Given the description of an element on the screen output the (x, y) to click on. 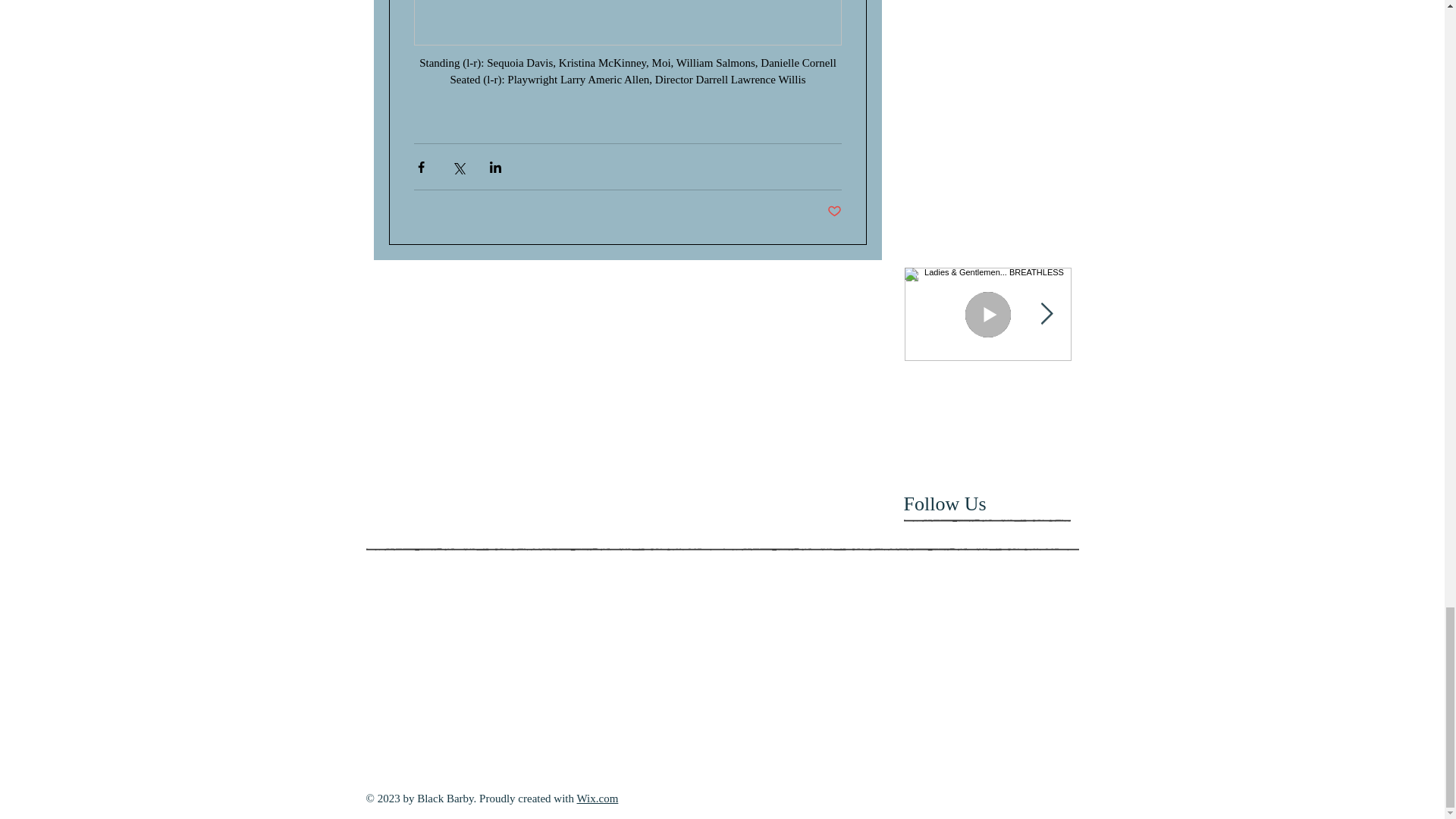
Post not marked as liked (834, 211)
Wix.com (597, 798)
Vignette Number 2 Released (1153, 396)
